Given the description of an element on the screen output the (x, y) to click on. 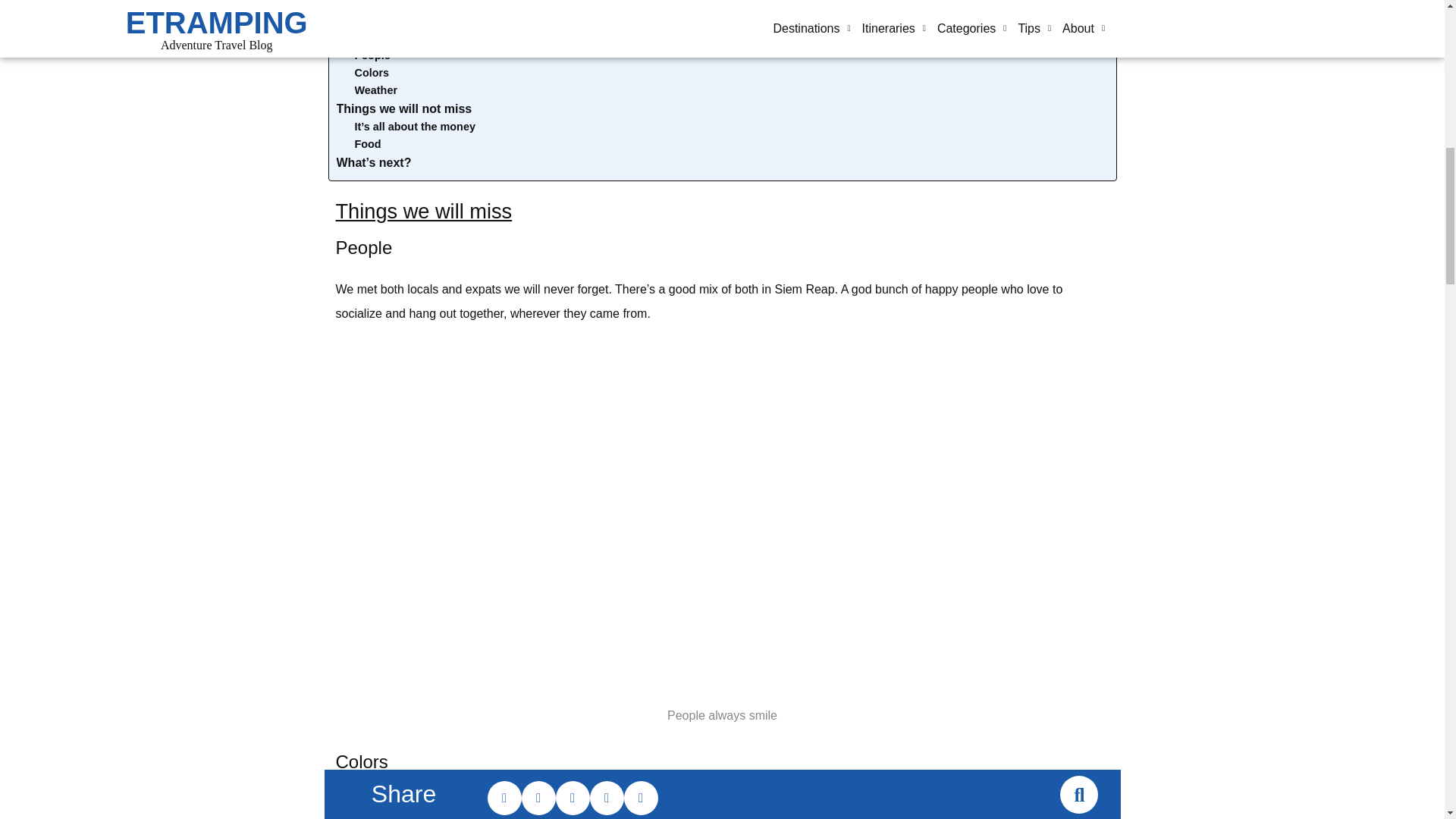
Things we will miss (392, 36)
People (372, 55)
Things we will not miss (403, 108)
Colors (372, 72)
Weather (376, 90)
Food (368, 144)
